Given the description of an element on the screen output the (x, y) to click on. 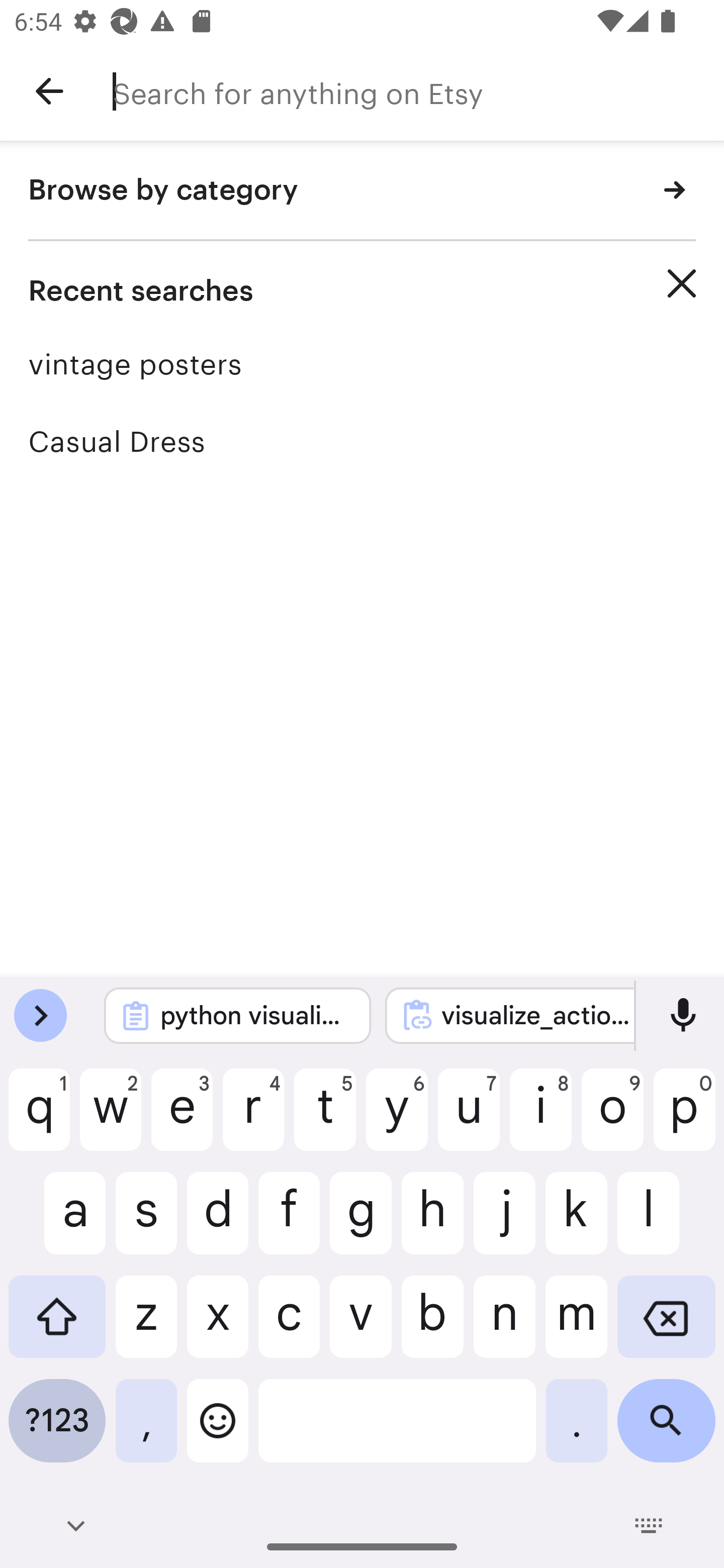
Navigate up (49, 91)
Search for anything on Etsy (418, 91)
Browse by category (362, 191)
Clear (681, 283)
vintage posters (362, 364)
Casual Dress (362, 440)
